Given the description of an element on the screen output the (x, y) to click on. 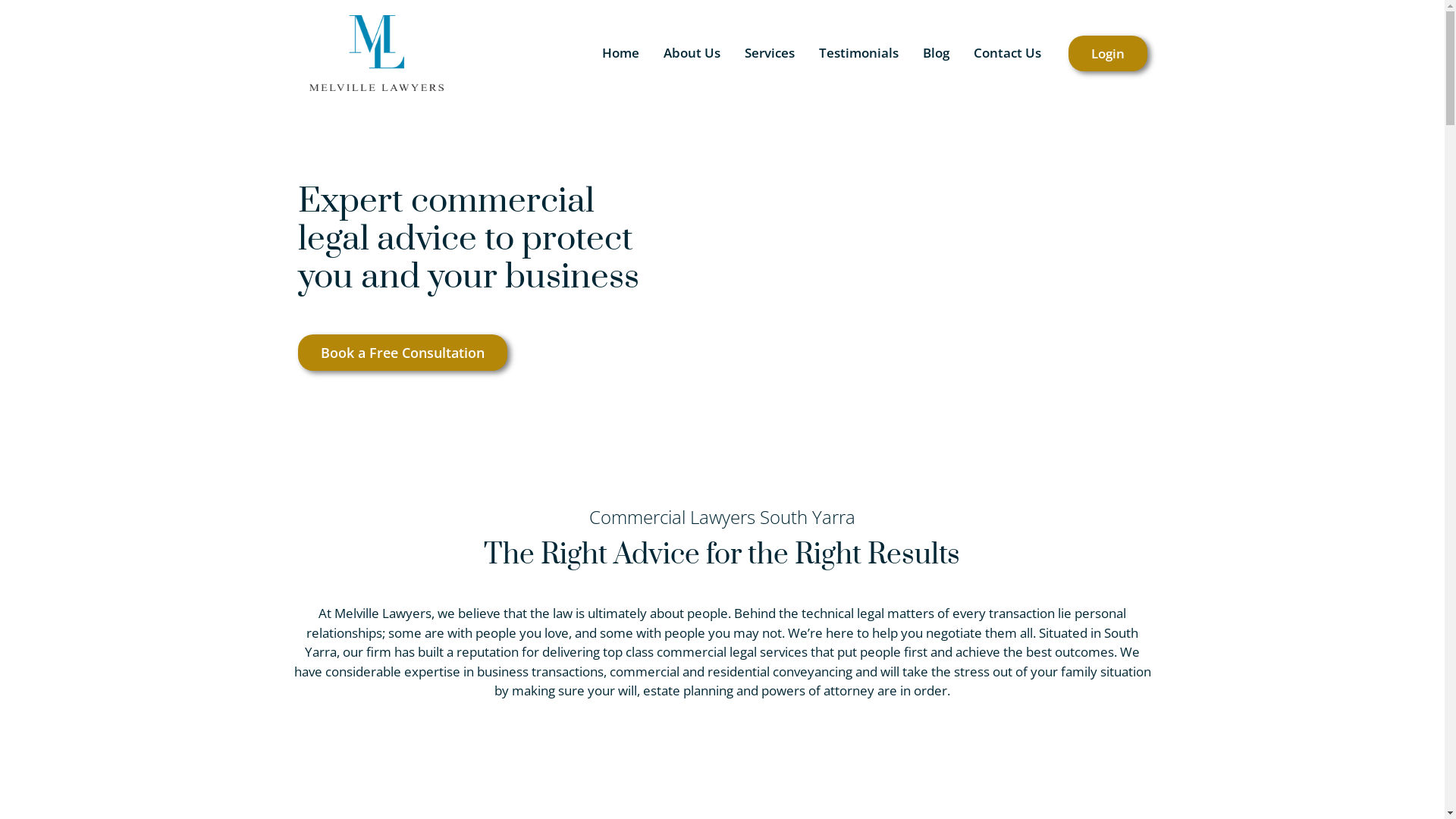
Login Element type: text (1106, 52)
Book a Free Consultation Element type: text (401, 352)
Home Element type: text (619, 52)
Blog Element type: text (935, 52)
Testimonials Element type: text (857, 52)
Services Element type: text (768, 52)
About Us Element type: text (691, 52)
Contact Us Element type: text (1006, 52)
